Given the description of an element on the screen output the (x, y) to click on. 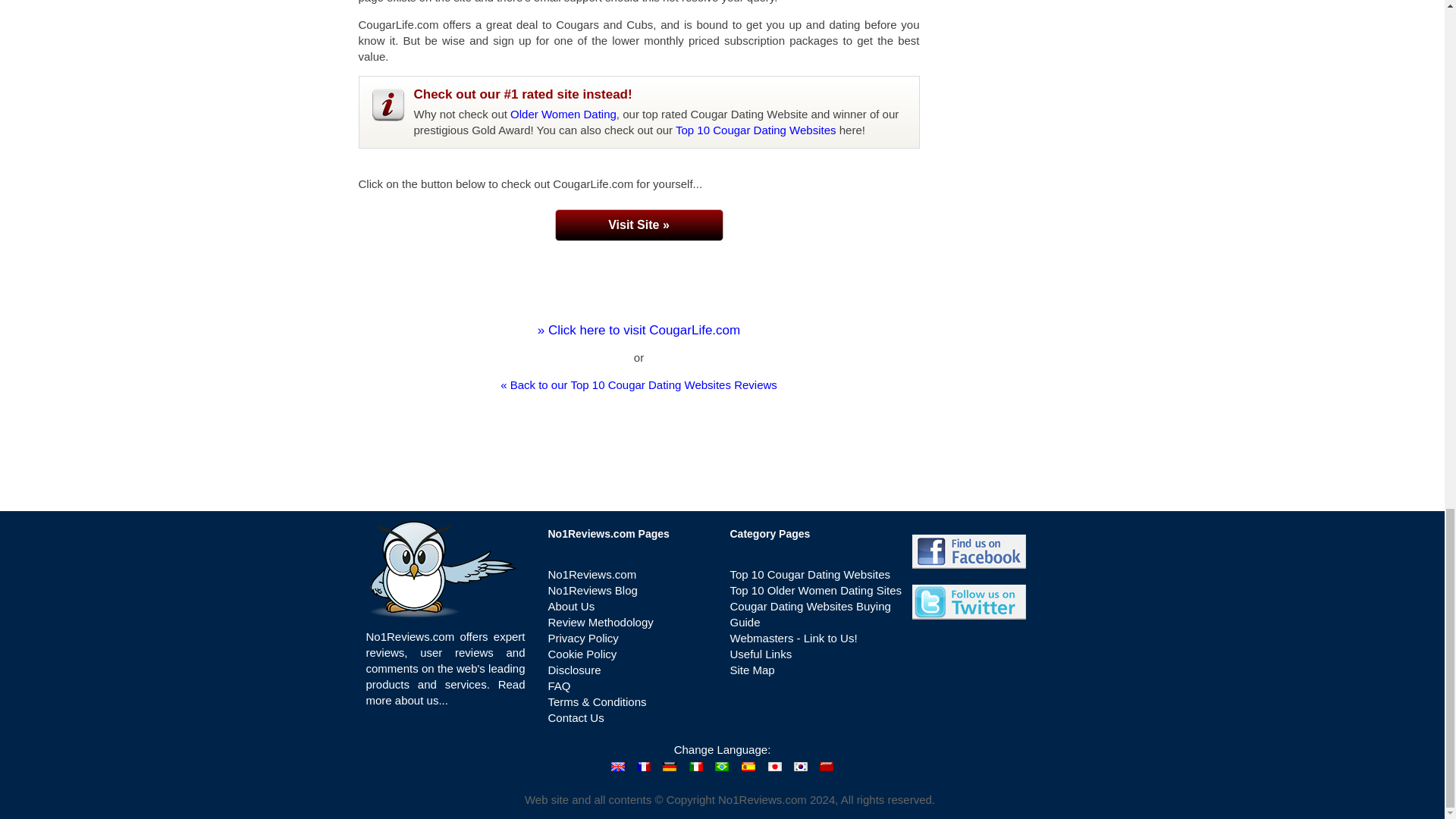
Original English Version (617, 766)
Top 10 Cougar Dating Websites (755, 129)
Older Women Dating (563, 113)
Visit CougarLife.com (638, 224)
